Given the description of an element on the screen output the (x, y) to click on. 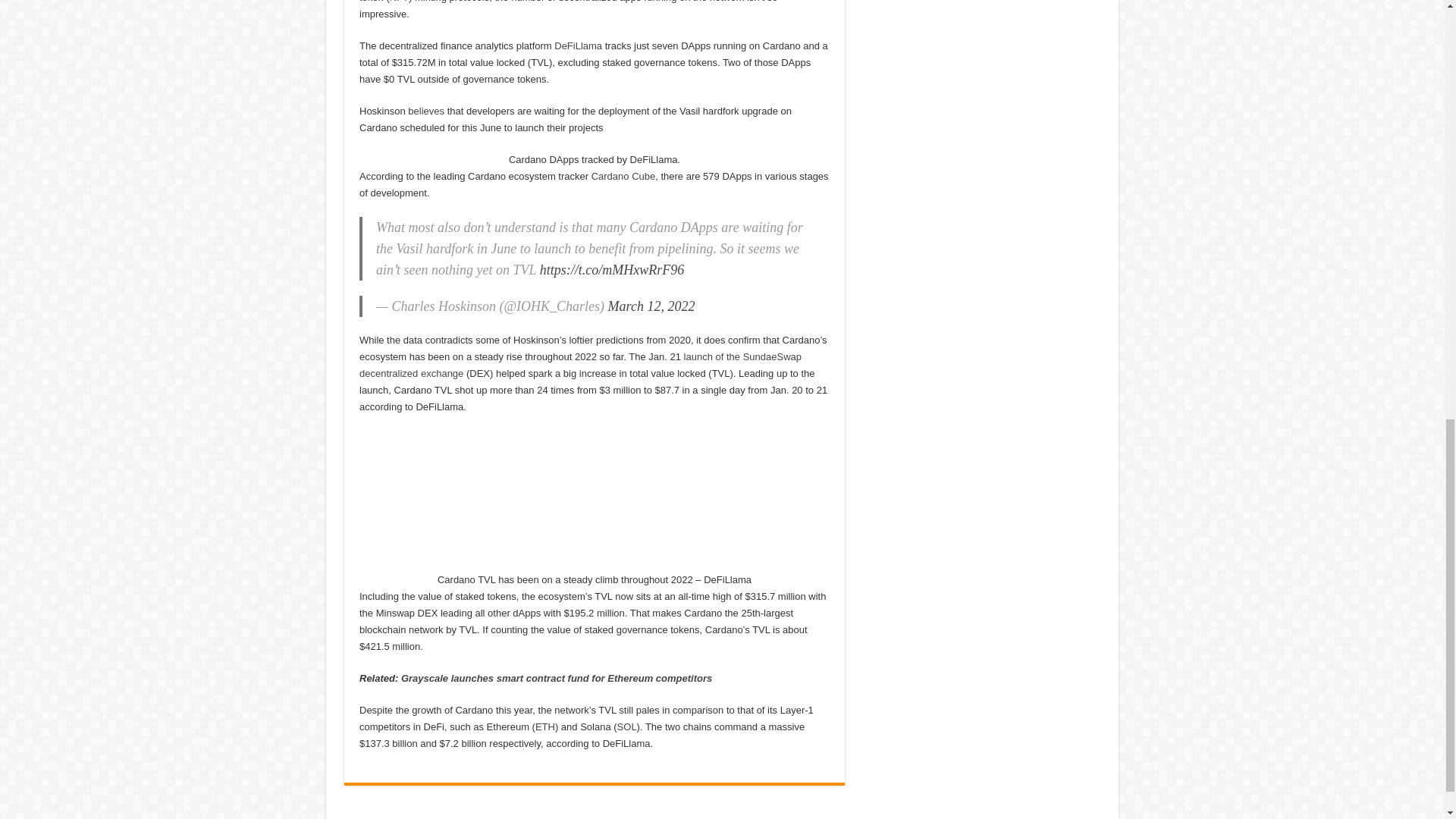
believes (425, 111)
NFT (399, 1)
DeFiLlama (578, 45)
Cardano Cube (623, 175)
